Given the description of an element on the screen output the (x, y) to click on. 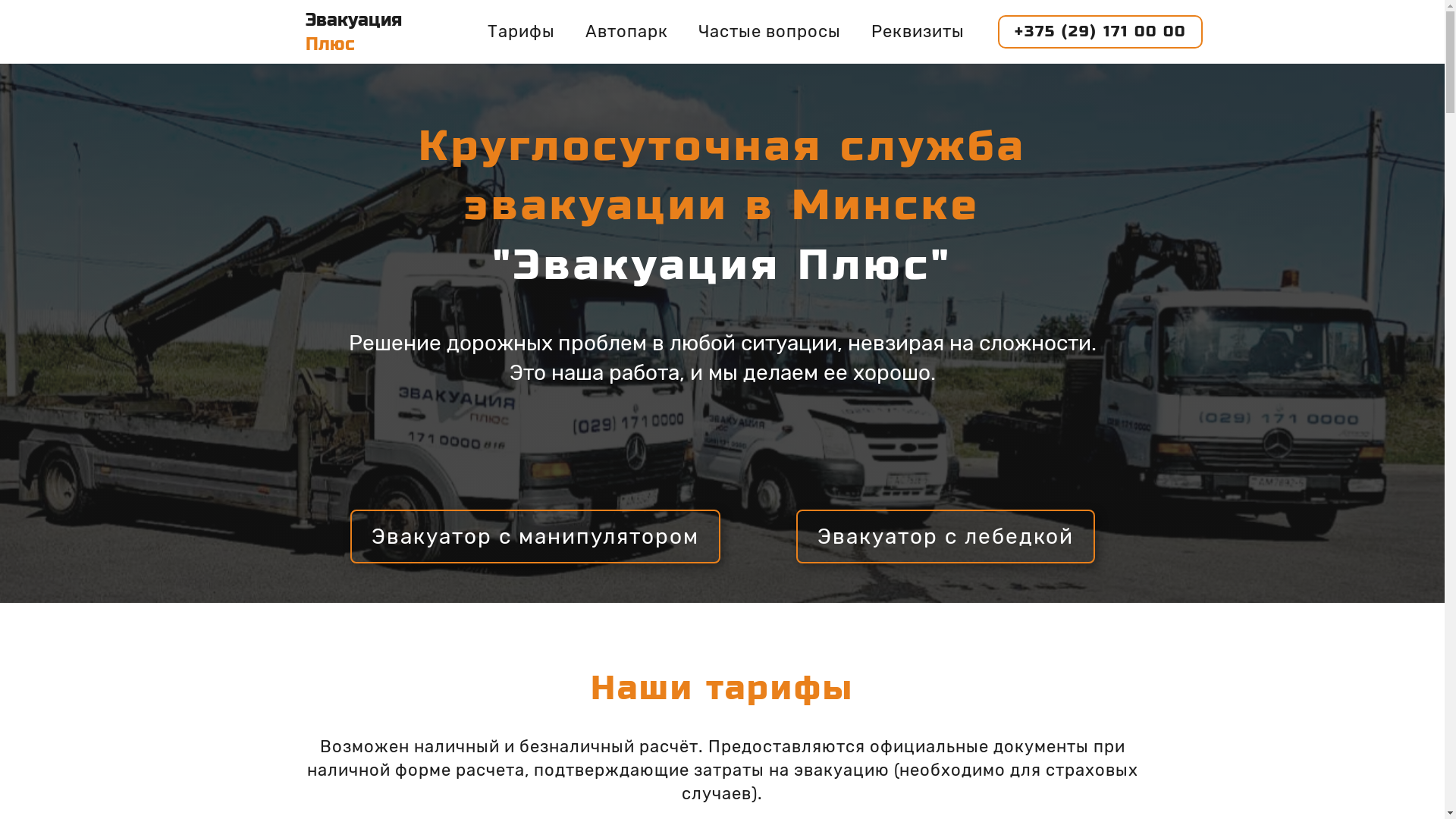
+375 (29) 171 00 00 Element type: text (1099, 31)
